Given the description of an element on the screen output the (x, y) to click on. 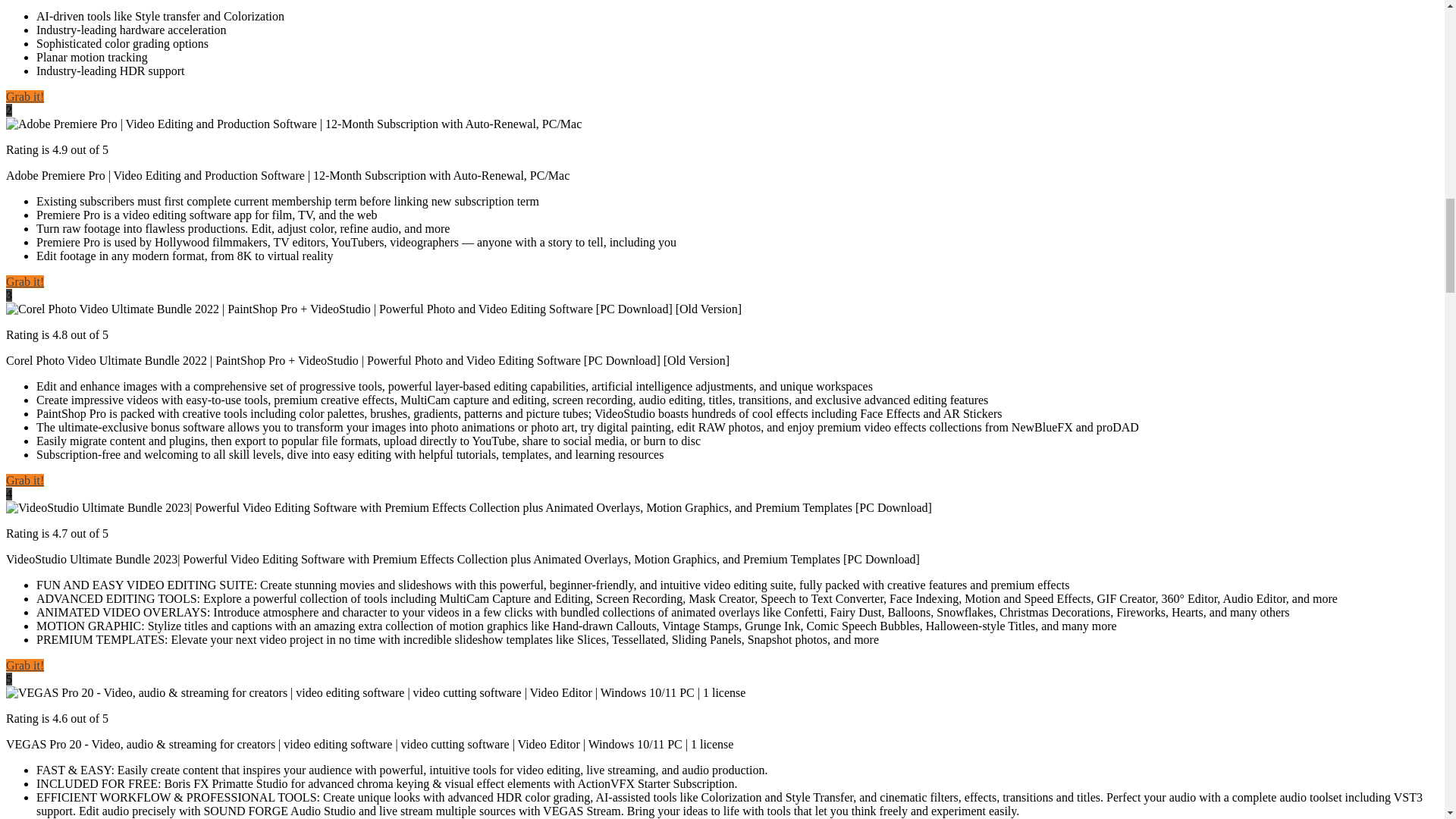
Grab it! (24, 480)
Grab it! (24, 281)
Grab it! (24, 665)
Grab it! (24, 96)
